Given the description of an element on the screen output the (x, y) to click on. 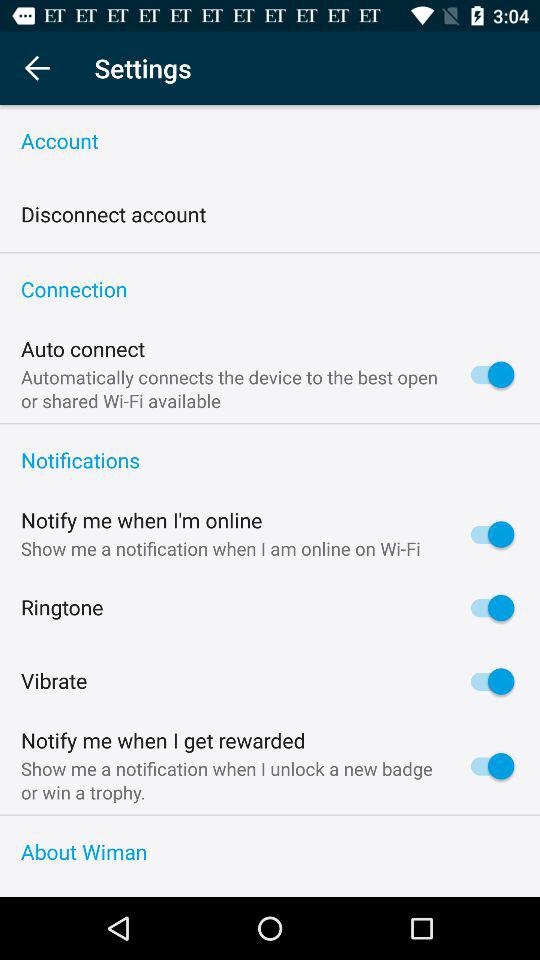
open notifications (270, 461)
